Given the description of an element on the screen output the (x, y) to click on. 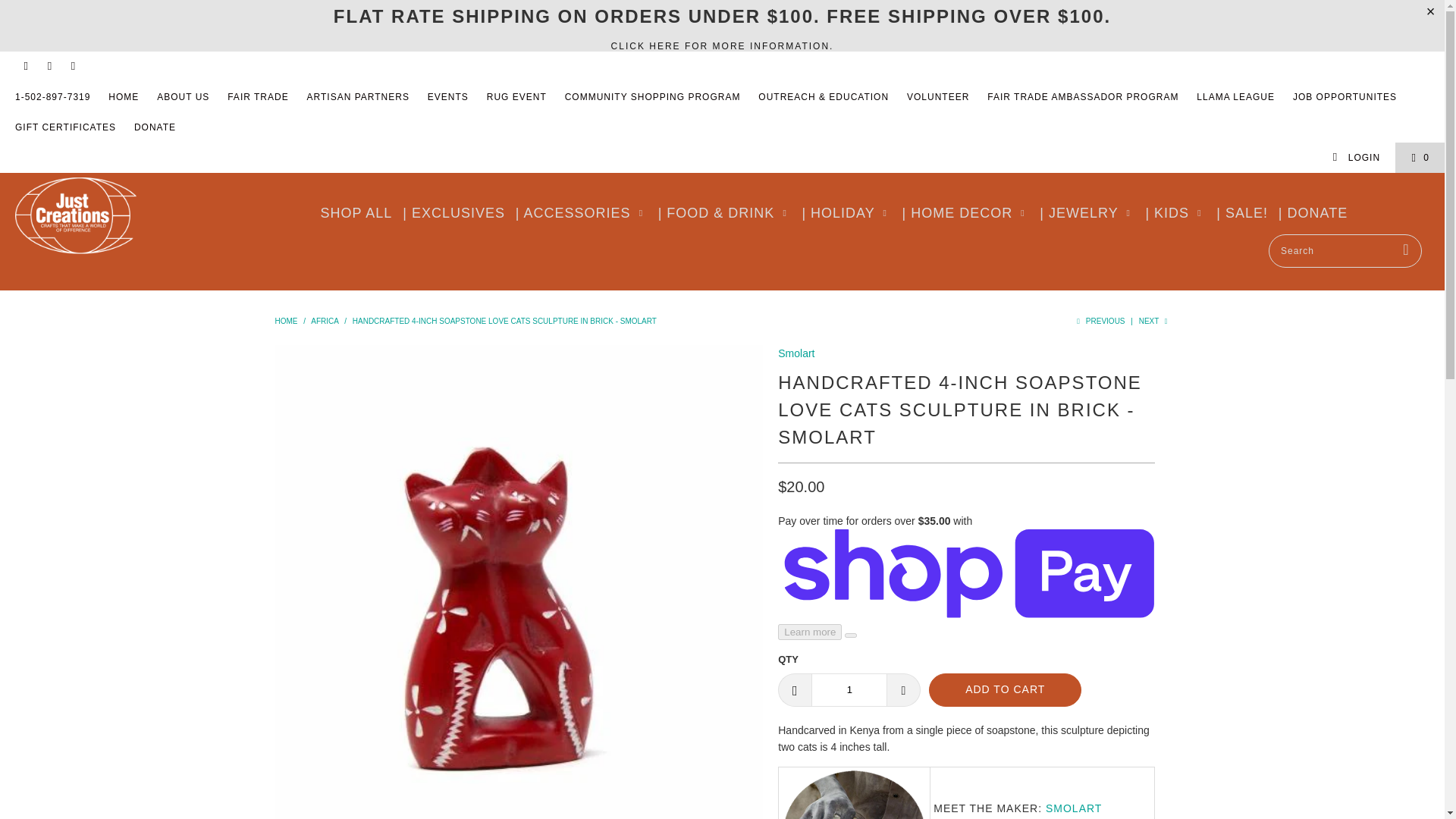
Just Creations on Facebook (25, 66)
Smolart (795, 353)
Just Creations (286, 320)
Just Creations (122, 217)
1 (848, 689)
Email Just Creations (71, 66)
Previous (1099, 320)
Just Creations on Instagram (48, 66)
Next (1154, 320)
Africa (324, 320)
My Account  (1355, 157)
